Given the description of an element on the screen output the (x, y) to click on. 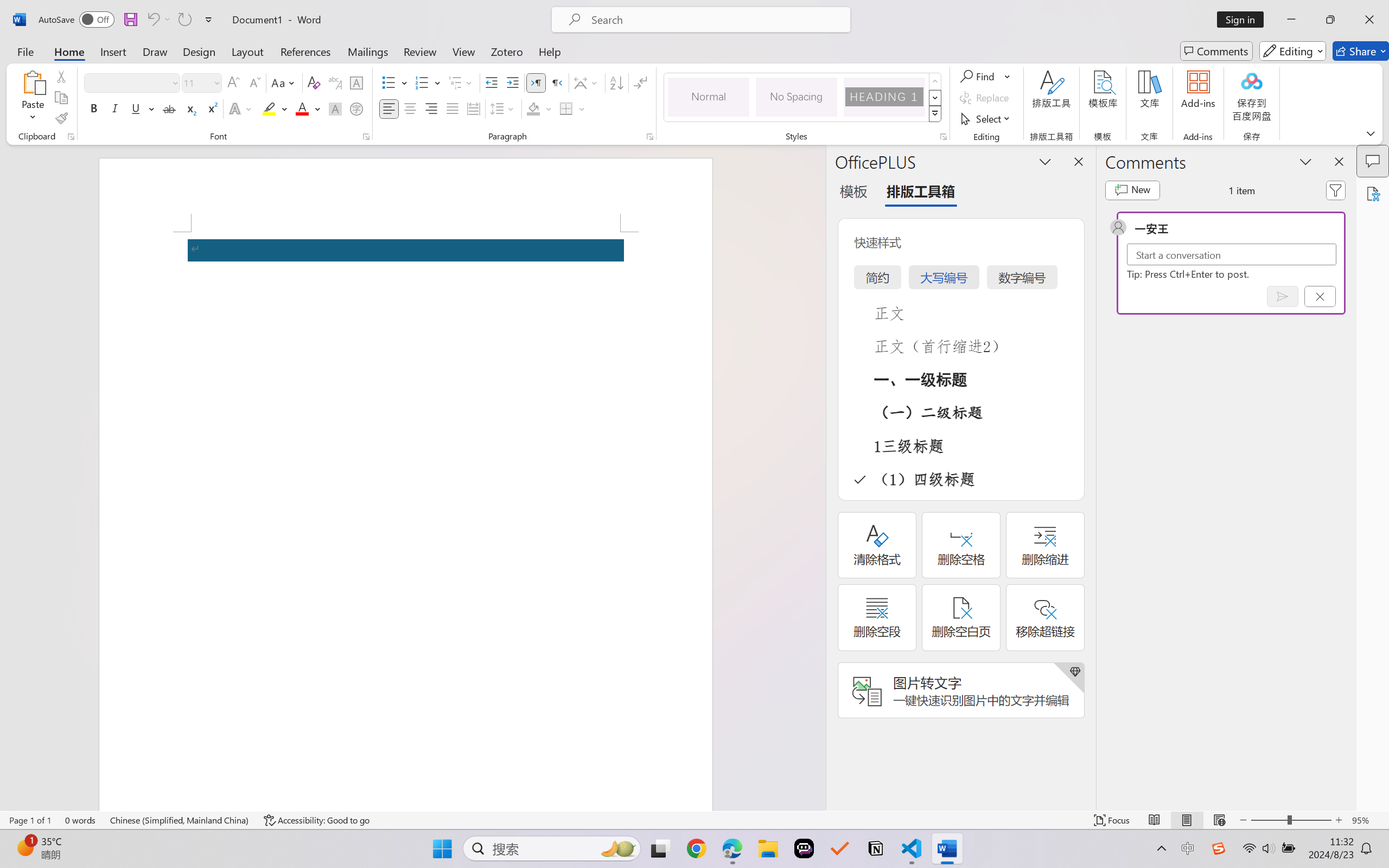
Sign in (1244, 19)
